Given the description of an element on the screen output the (x, y) to click on. 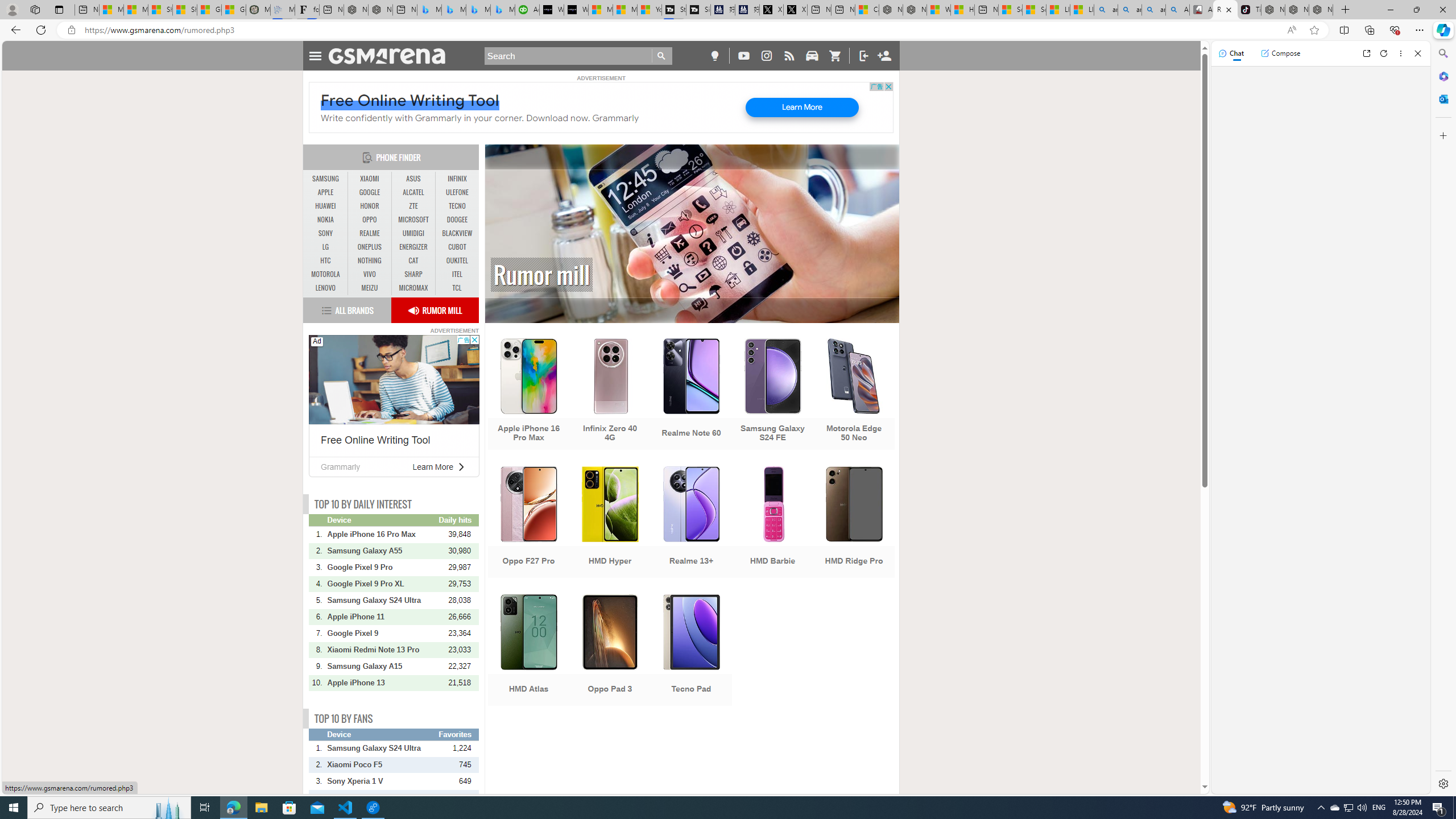
MEIZU (369, 287)
TECNO (457, 205)
Xiaomi Poco F5 (381, 764)
SHARP (413, 273)
Shanghai, China weather forecast | Microsoft Weather (184, 9)
ALCATEL (413, 192)
UMIDIGI (413, 233)
DOOGEE (457, 219)
Motorola Edge 50 Neo (853, 395)
HMD Atlas (528, 651)
Huge shark washes ashore at New York City beach | Watch (962, 9)
